Given the description of an element on the screen output the (x, y) to click on. 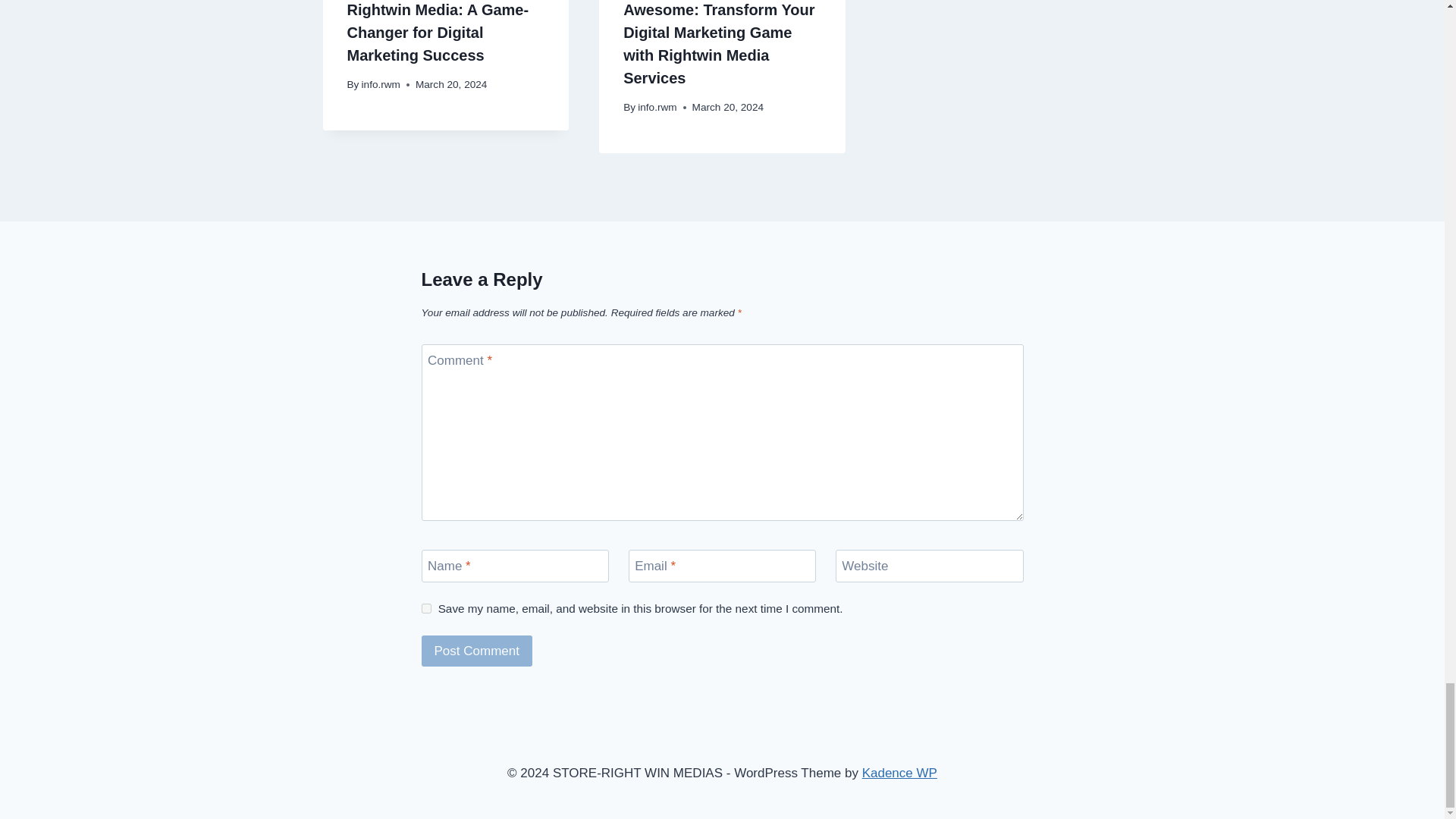
info.rwm (380, 84)
Post Comment (477, 650)
yes (426, 608)
